Given the description of an element on the screen output the (x, y) to click on. 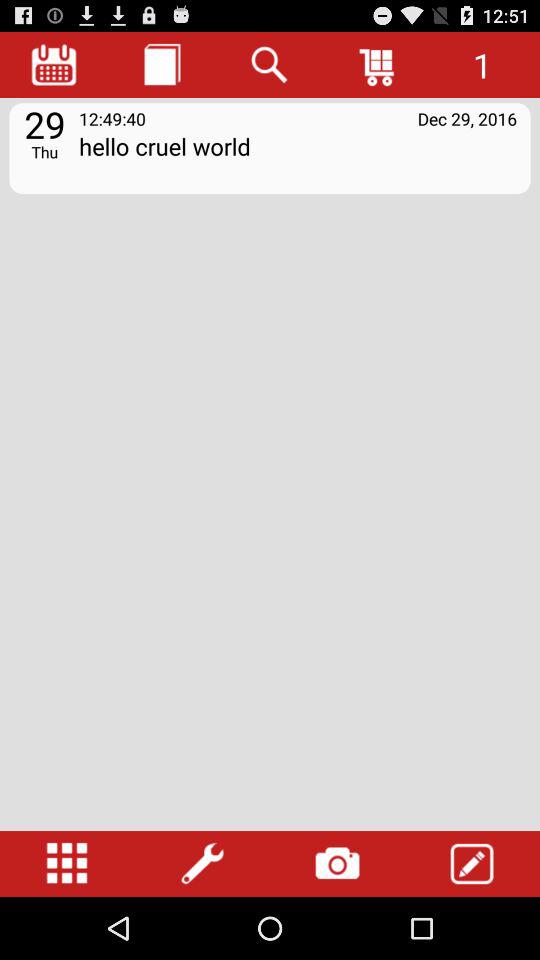
settings button (202, 863)
